Given the description of an element on the screen output the (x, y) to click on. 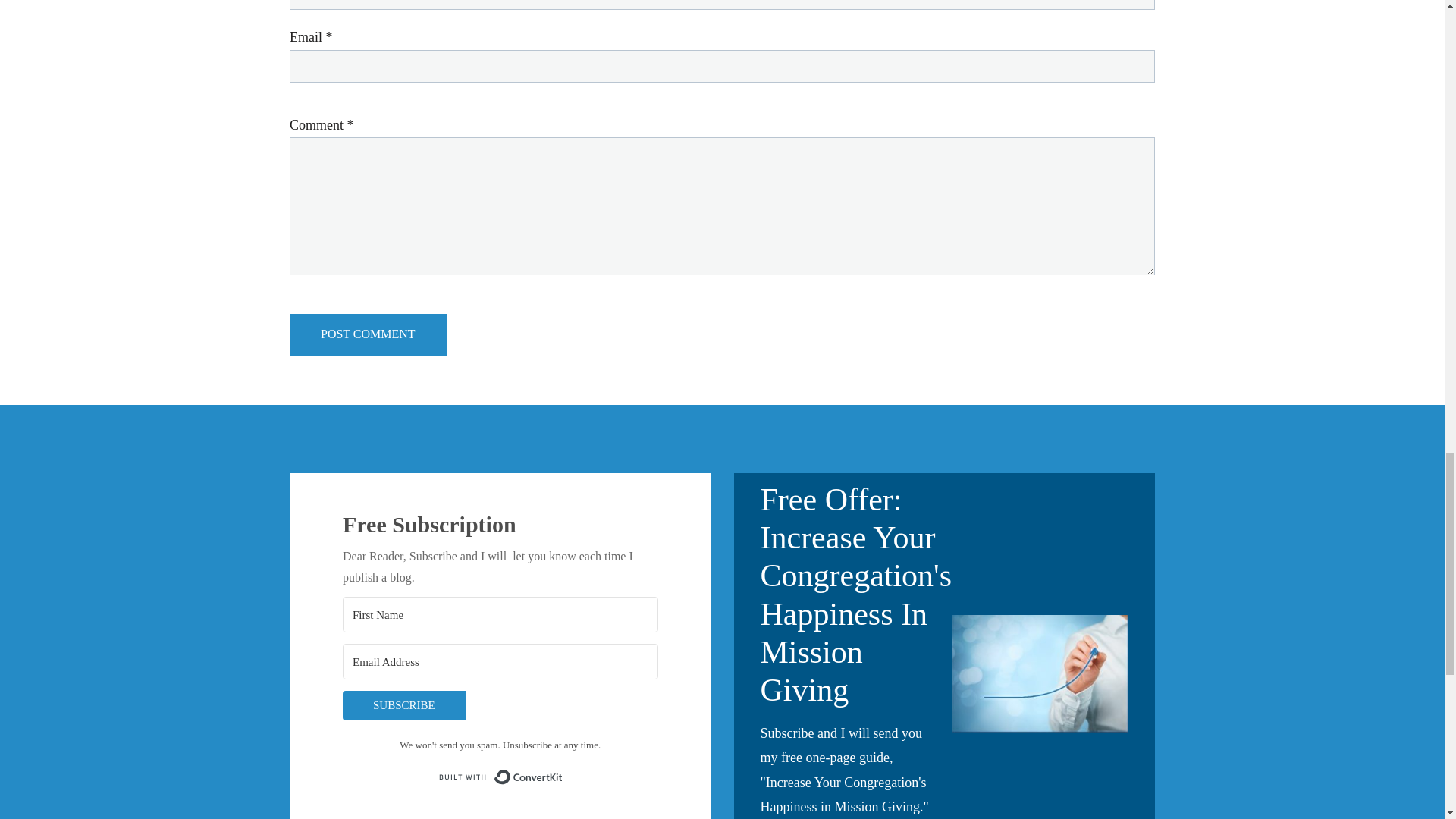
SUBSCRIBE (500, 705)
Post Comment (367, 334)
Built with ConvertKit (500, 777)
Post Comment (367, 334)
